Given the description of an element on the screen output the (x, y) to click on. 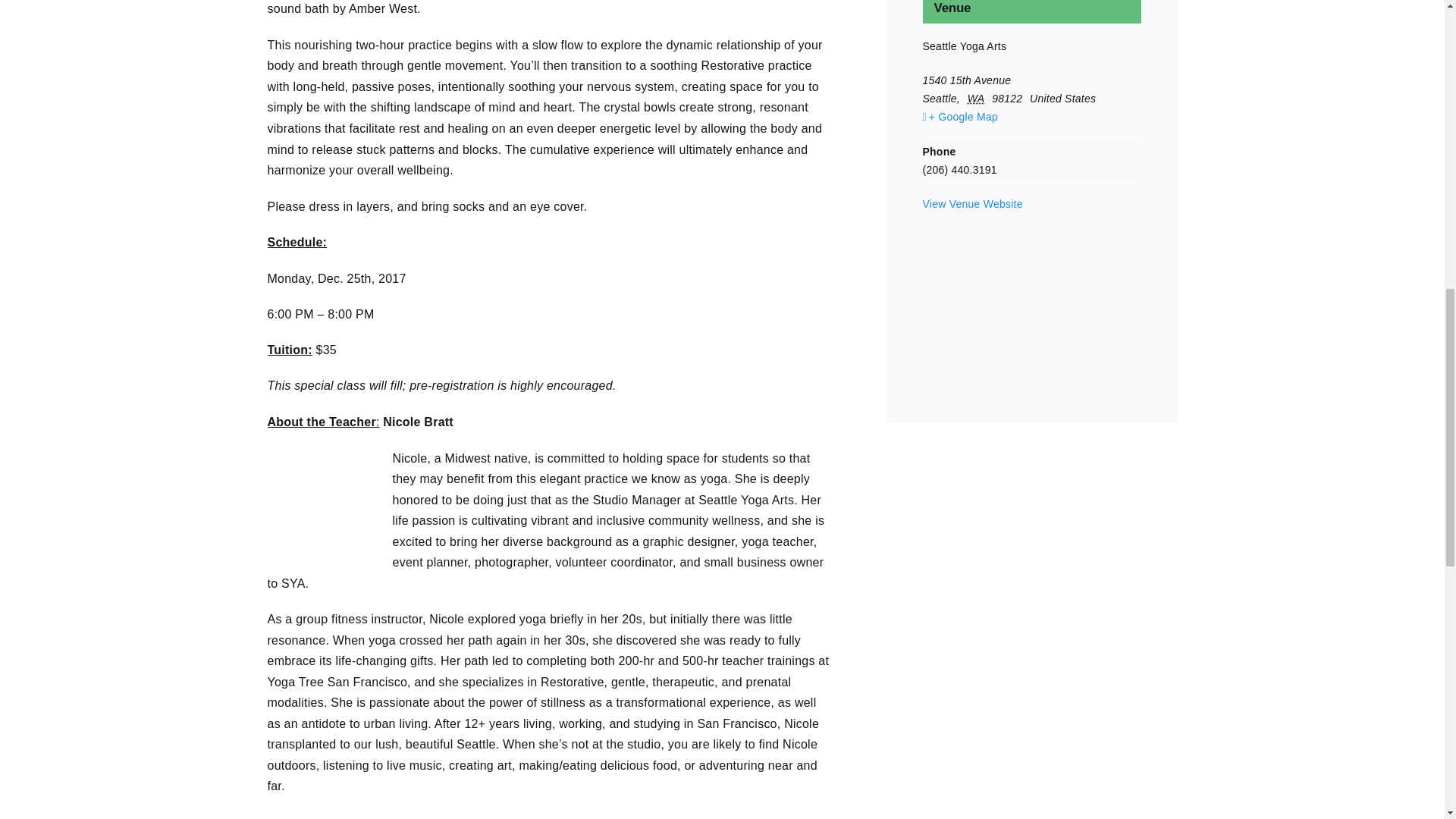
Washington (978, 98)
Click to view a Google Map (1029, 116)
View Venue Website (971, 203)
